Given the description of an element on the screen output the (x, y) to click on. 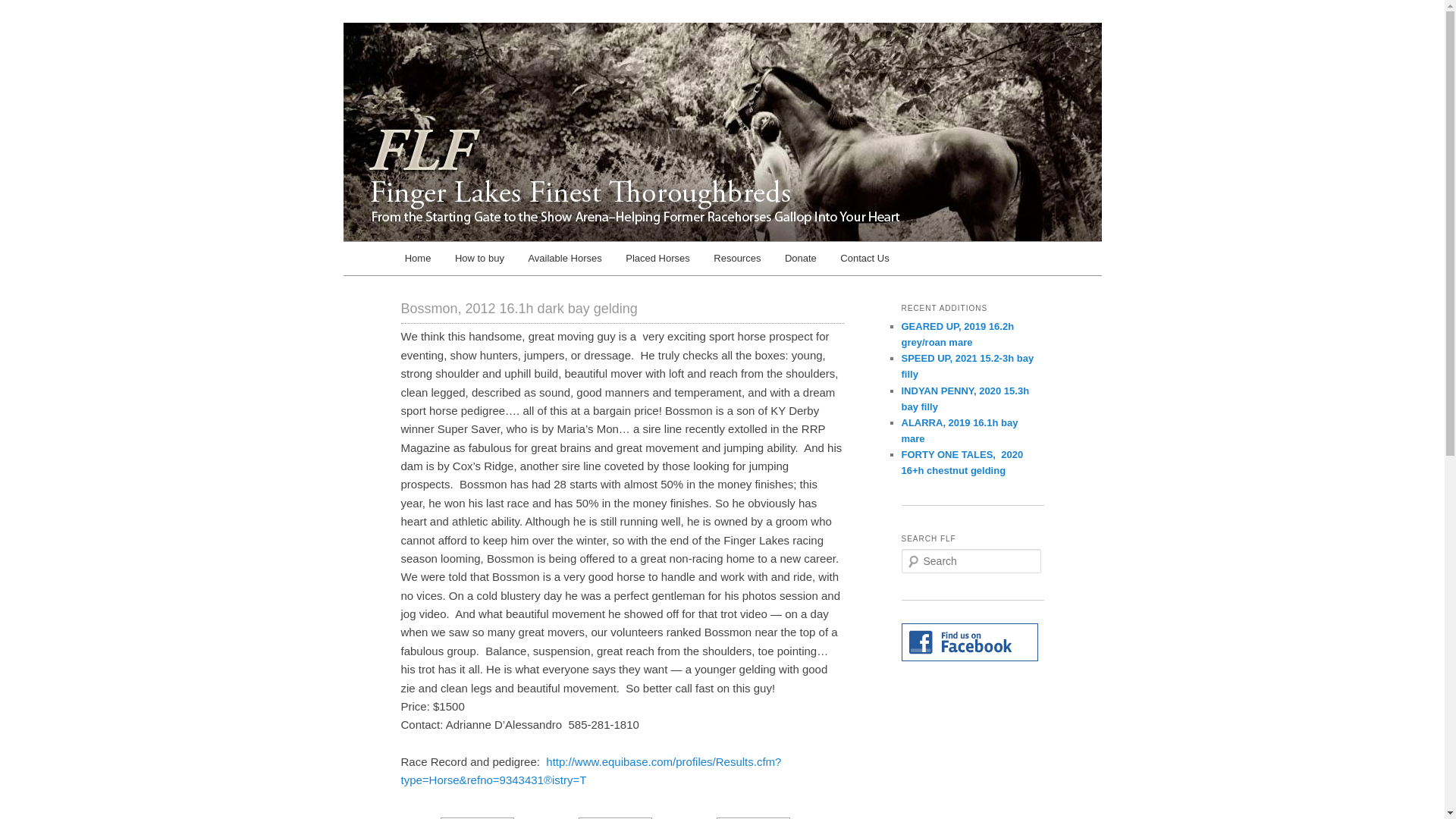
SPEED UP, 2021 15.2-3h bay filly (967, 366)
Available Horses (565, 257)
2020 (656, 257)
Skip to primary content (472, 260)
Skip to primary content (472, 260)
INDYAN PENNY, 2020 15.3h bay filly (965, 398)
Skip to secondary content (479, 260)
Home (417, 257)
ALARRA, 2019 16.1h bay mare (959, 430)
Bossmon2 (753, 818)
Finger Lakes Finest Thoroughbreds (594, 77)
Search (21, 11)
Bossmon3 (615, 818)
Finger Lakes Finest Thoroughbreds (594, 77)
Bossmon4 (477, 818)
